Given the description of an element on the screen output the (x, y) to click on. 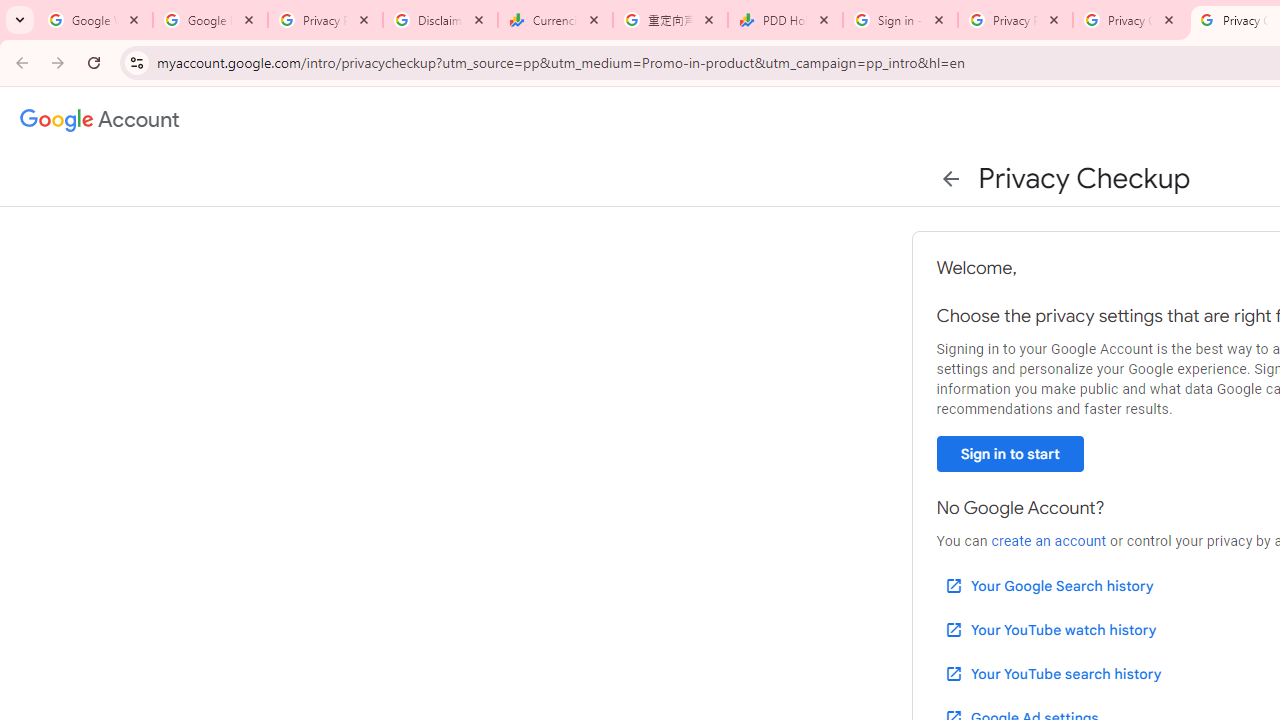
Your Google Search history (1048, 586)
Your YouTube search history (1052, 673)
Sign in to start (1009, 454)
create an account (1048, 541)
